Given the description of an element on the screen output the (x, y) to click on. 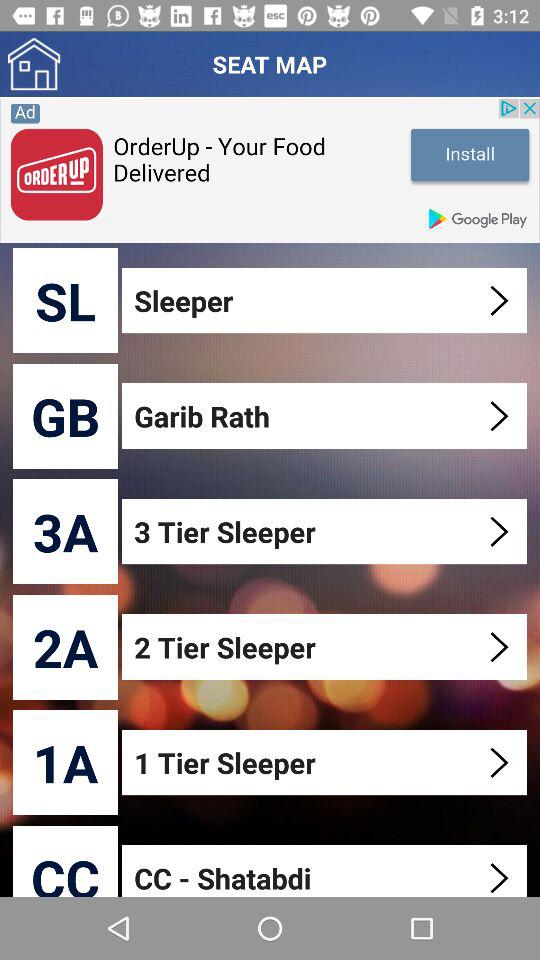
launch the item below 1 tier sleeper item (326, 870)
